Given the description of an element on the screen output the (x, y) to click on. 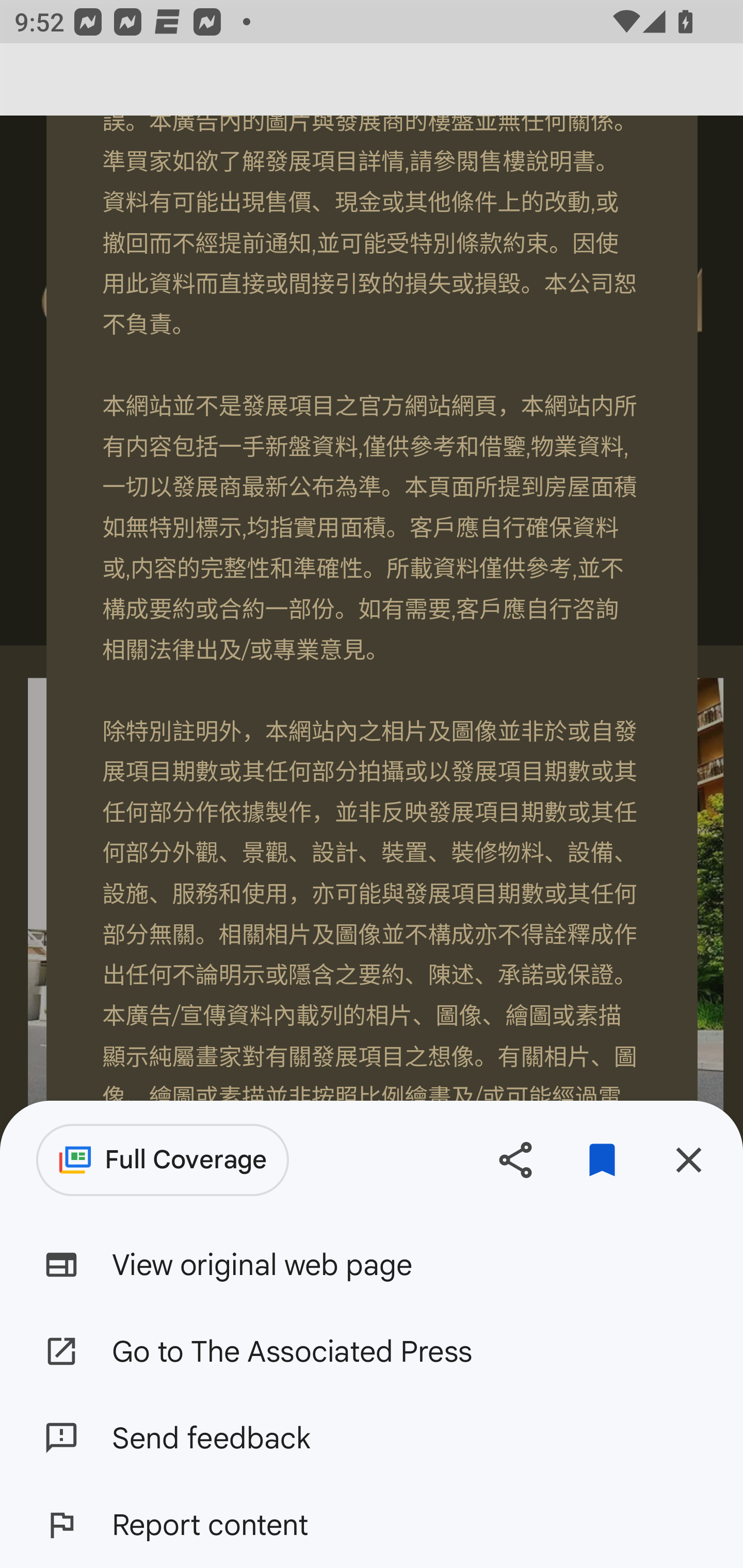
Share (514, 1159)
Remove from saved stories (601, 1159)
Close (688, 1159)
Full Coverage (162, 1160)
View original web page (371, 1264)
Go to The Associated Press (371, 1350)
Send feedback (371, 1437)
Report content (371, 1524)
